Given the description of an element on the screen output the (x, y) to click on. 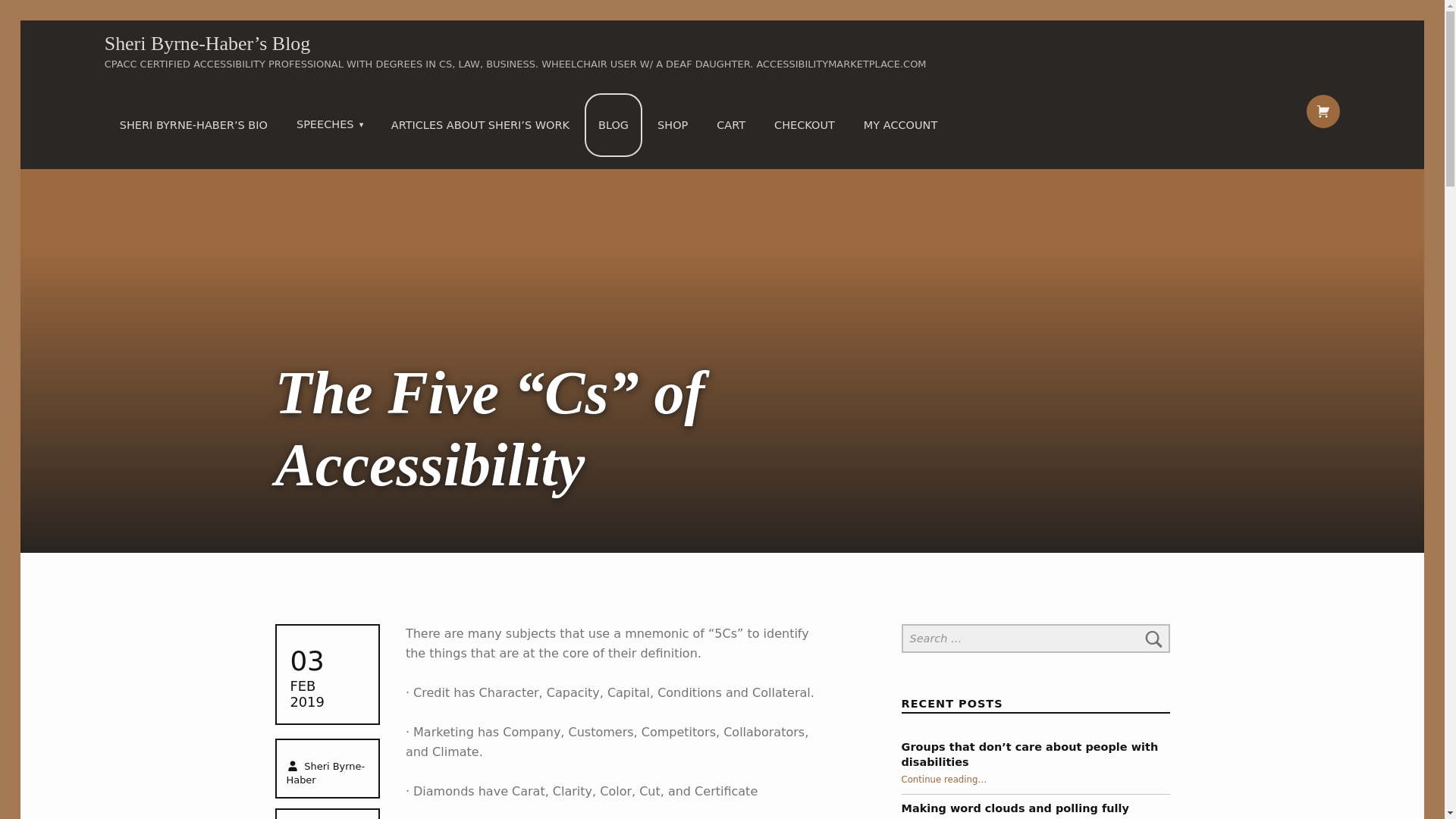
MY ACCOUNT (900, 125)
BLOG (613, 125)
CHECKOUT (804, 125)
CART (730, 125)
Sheri Byrne-Haber (325, 772)
Search (1154, 638)
SPEECHES (332, 124)
Search (1154, 638)
Search (1154, 638)
SHOP (672, 125)
